Given the description of an element on the screen output the (x, y) to click on. 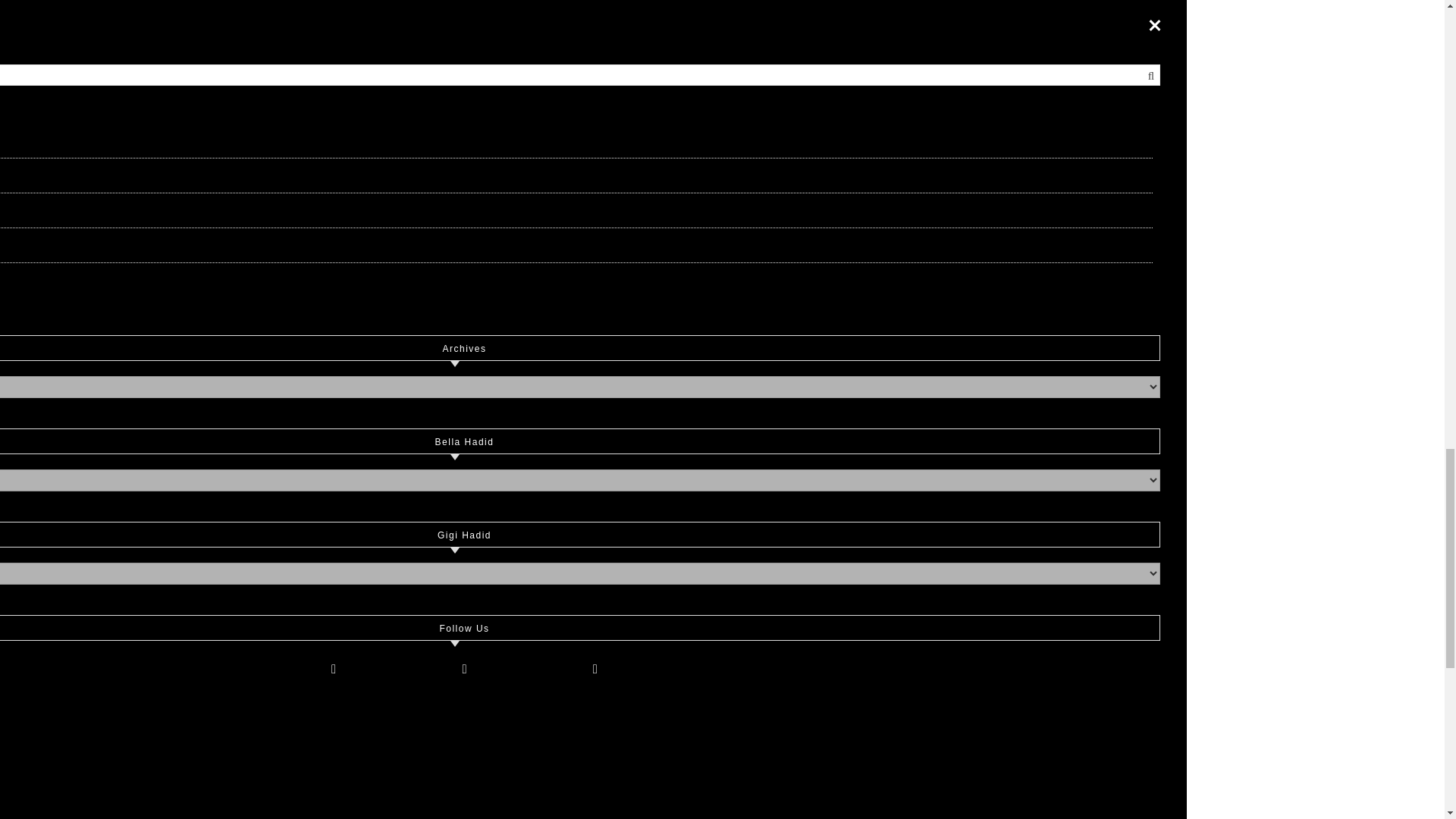
SOLD IN STORES ONLY (926, 184)
No Comments (1099, 269)
Instagram: Bella Hadid Wears Kukhareva Top And Paige Jeans (991, 468)
SHOP NOW (516, 184)
Instagram: Gigi Hadid Shows Off Her Loro Piana Mini Bag (718, 468)
